Given the description of an element on the screen output the (x, y) to click on. 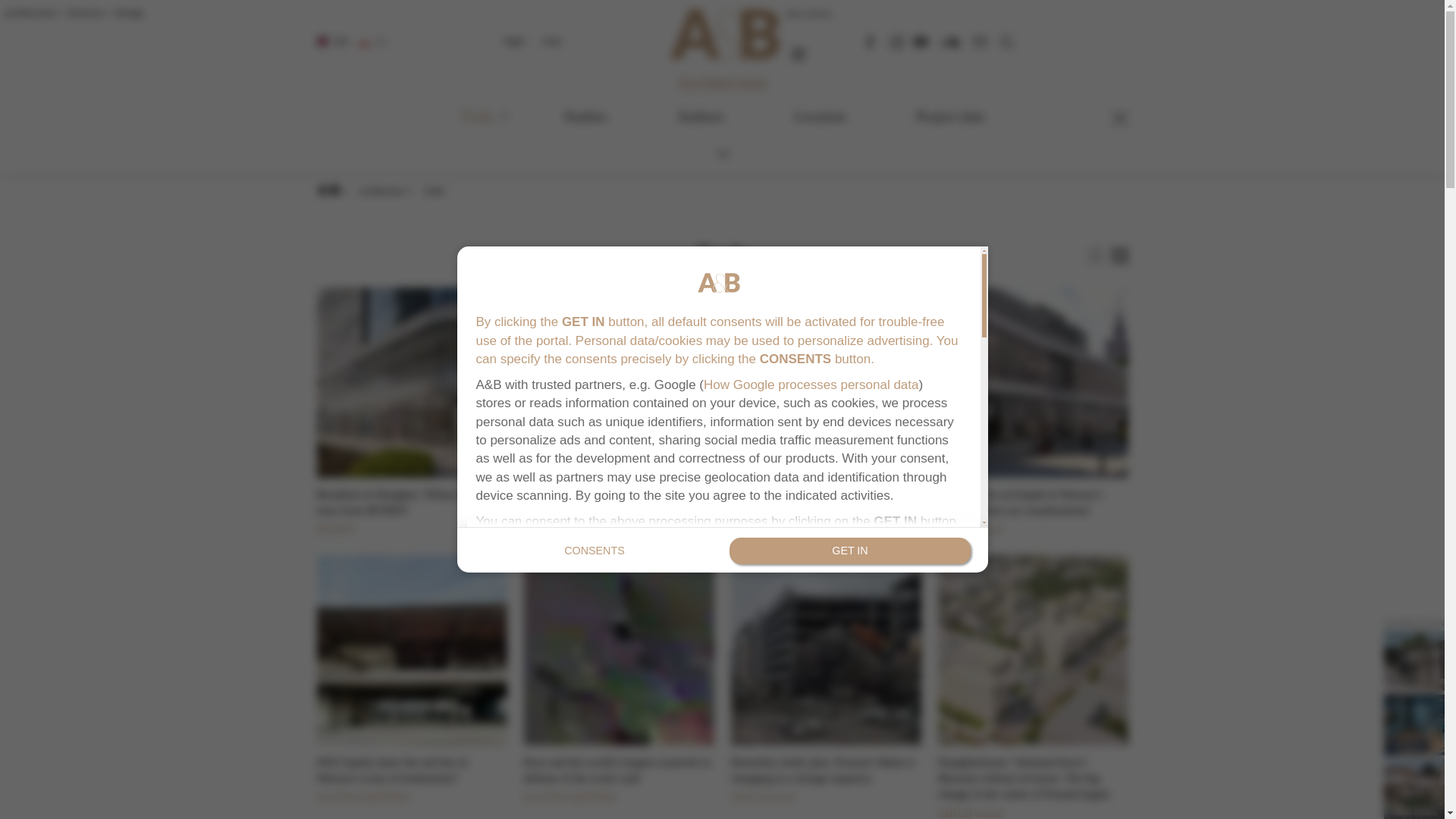
login (513, 40)
shop (552, 40)
PL (374, 42)
Architecture (722, 82)
